Given the description of an element on the screen output the (x, y) to click on. 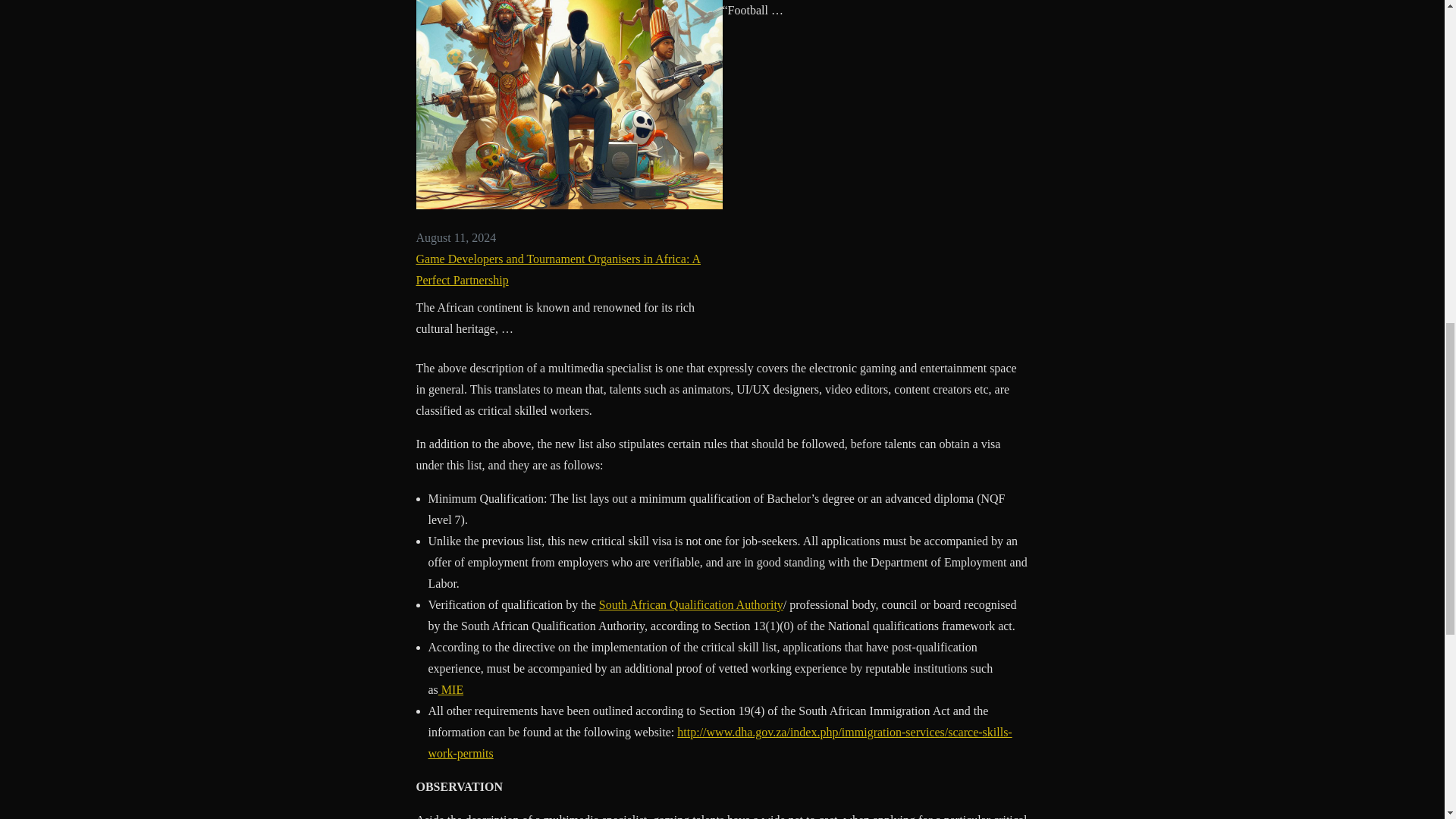
 MIE (450, 689)
South African Qualification Authority (690, 604)
